Given the description of an element on the screen output the (x, y) to click on. 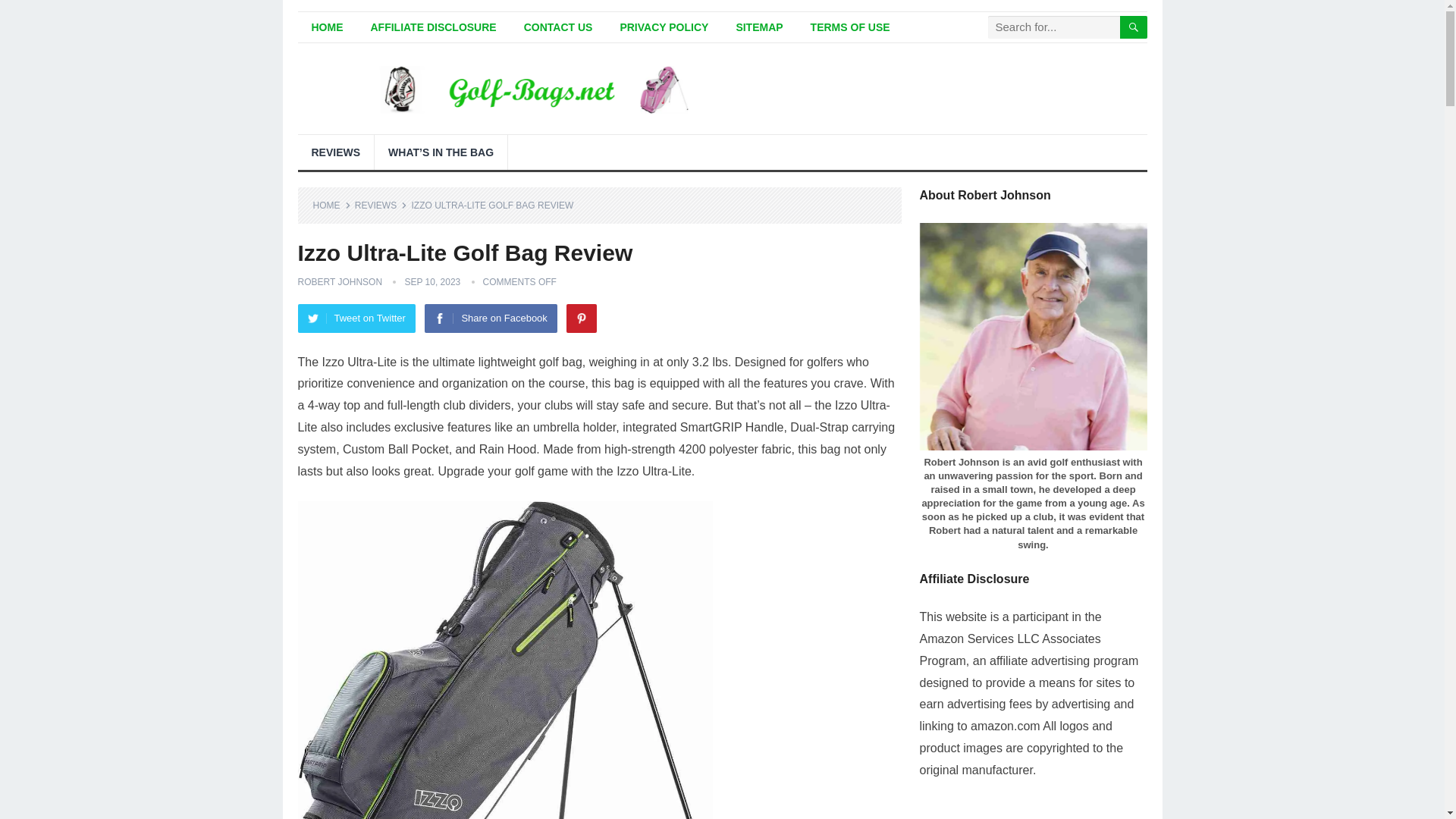
HOME (331, 204)
CONTACT US (559, 27)
TERMS OF USE (850, 27)
REVIEWS (335, 152)
HOME (326, 27)
Posts by Robert Johnson (339, 281)
AFFILIATE DISCLOSURE (432, 27)
Pinterest (581, 317)
Share on Facebook (490, 317)
REVIEWS (381, 204)
View all posts in Reviews (381, 204)
Tweet on Twitter (355, 317)
ROBERT JOHNSON (339, 281)
PRIVACY POLICY (663, 27)
Izzo Ultra-Lite (504, 660)
